Given the description of an element on the screen output the (x, y) to click on. 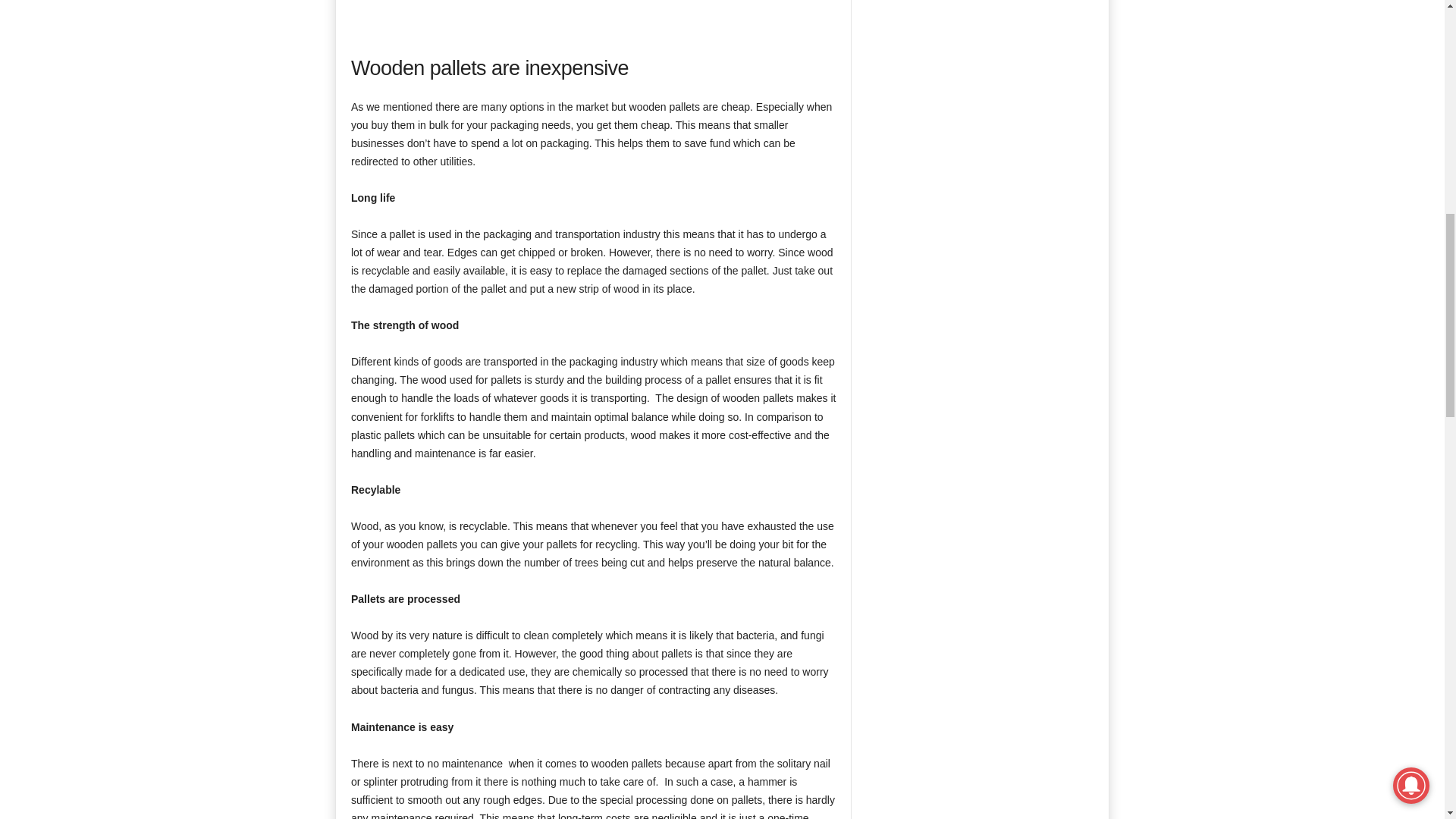
Advertisement (593, 12)
